Given the description of an element on the screen output the (x, y) to click on. 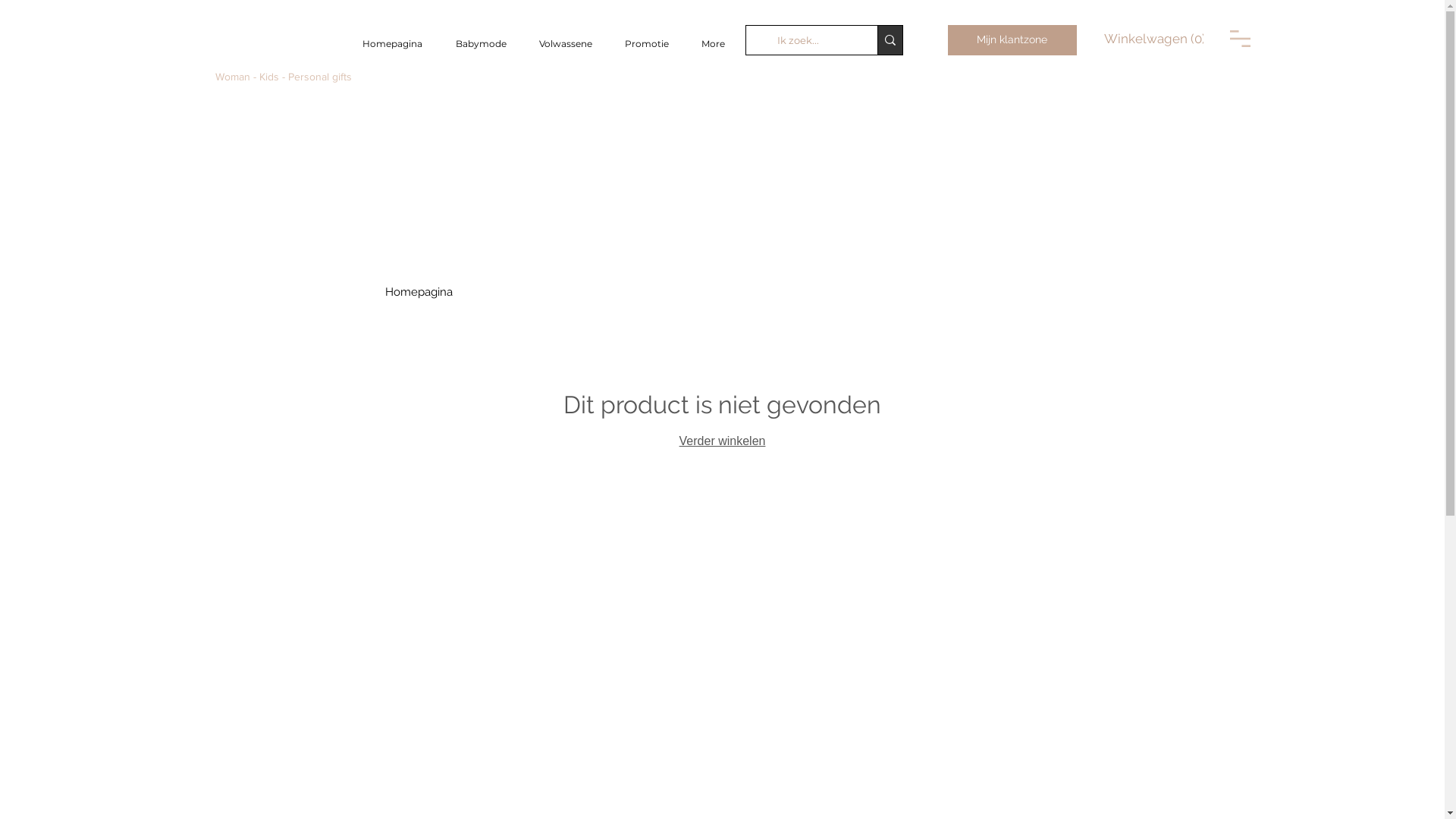
Verder winkelen Element type: text (722, 440)
Babymode Element type: text (480, 43)
Homepagina Element type: text (392, 43)
Promotie Element type: text (646, 43)
Winkelwagen (0) Element type: text (1153, 38)
Volwassene Element type: text (565, 43)
Mijn klantzone Element type: text (1011, 40)
Homepagina Element type: text (418, 291)
